Given the description of an element on the screen output the (x, y) to click on. 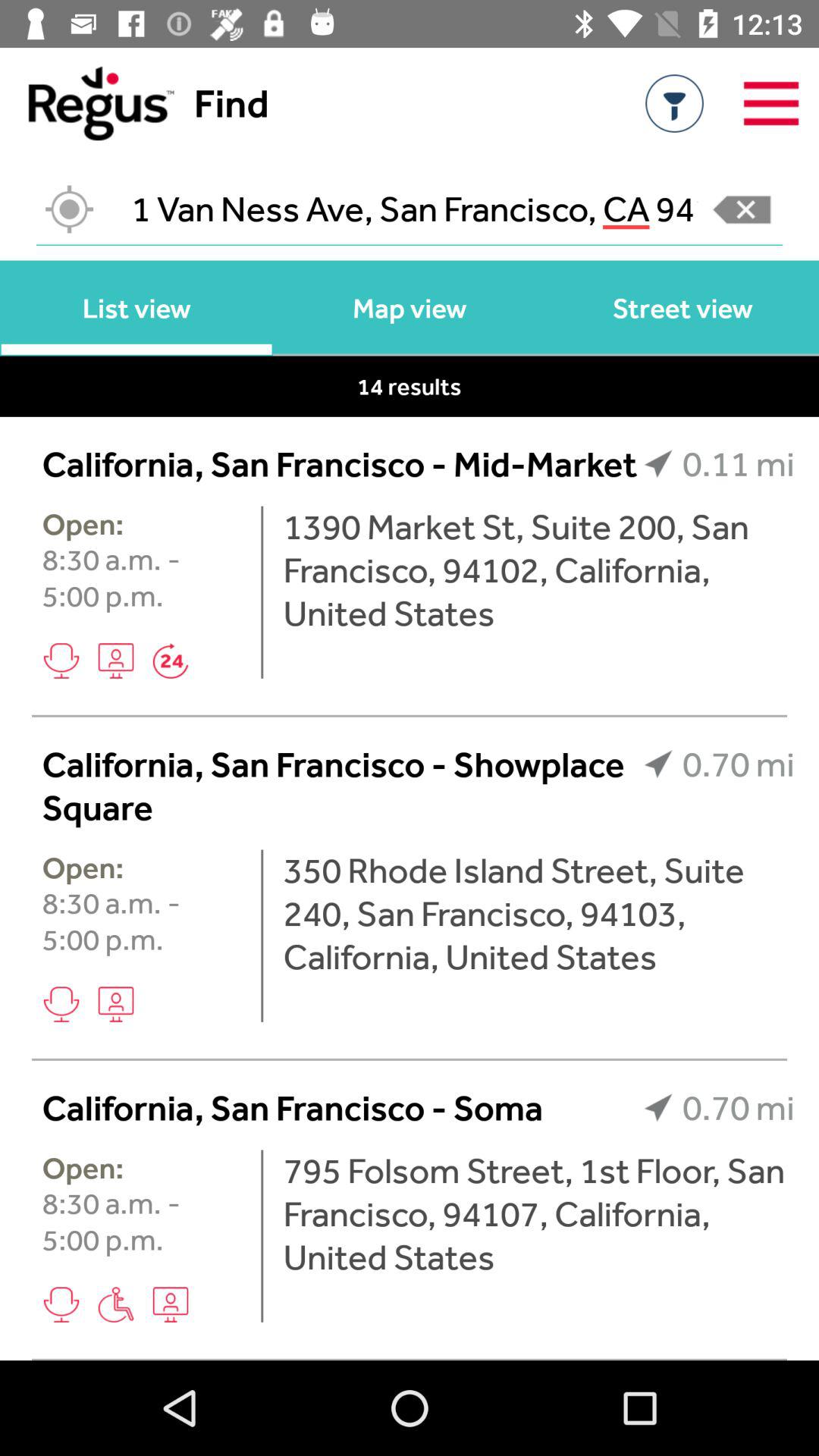
click on home page (87, 103)
